Given the description of an element on the screen output the (x, y) to click on. 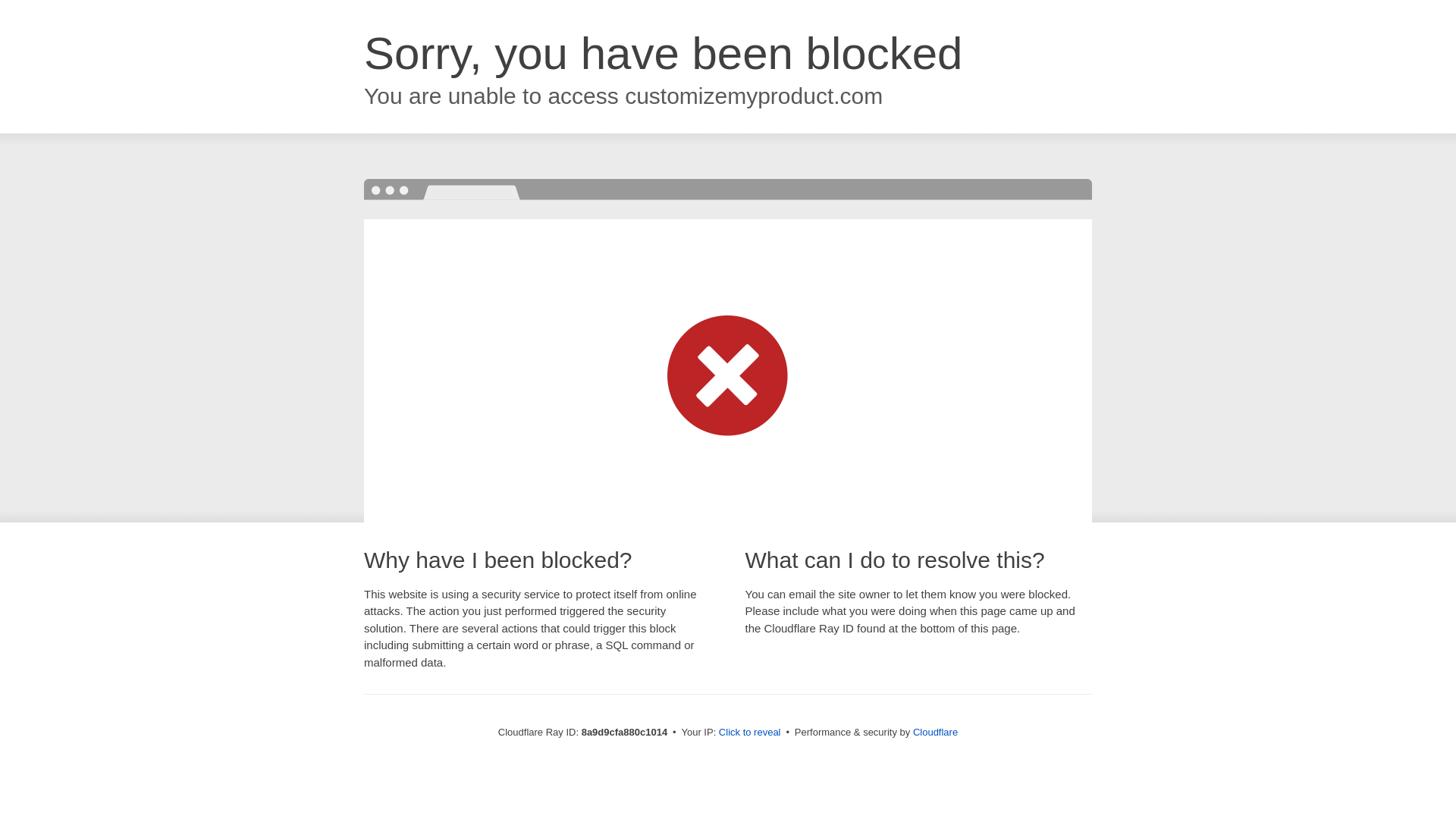
Click to reveal (749, 732)
Cloudflare (935, 731)
